Given the description of an element on the screen output the (x, y) to click on. 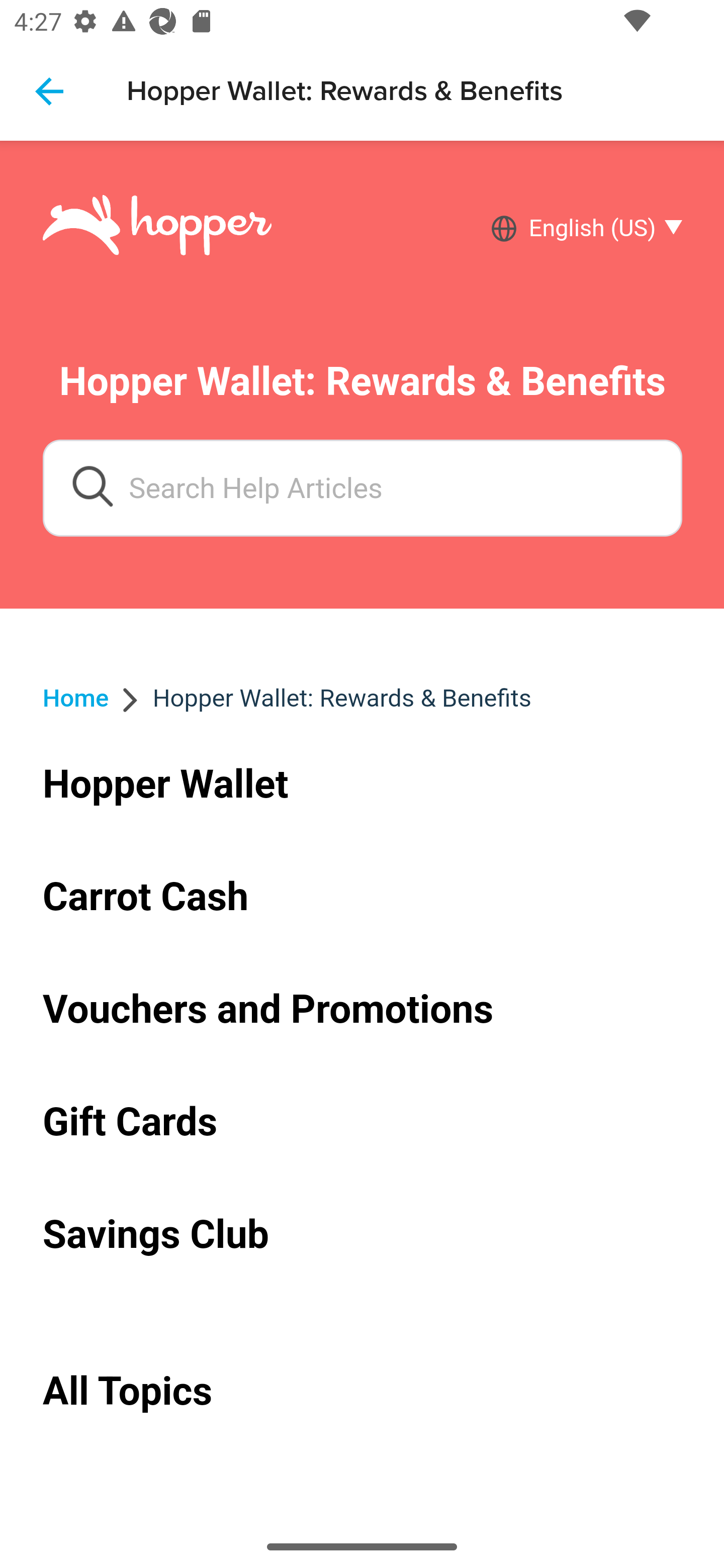
Navigate up (49, 91)
Brand logo (156, 227)
English (US) (599, 228)
Home (75, 697)
